Given the description of an element on the screen output the (x, y) to click on. 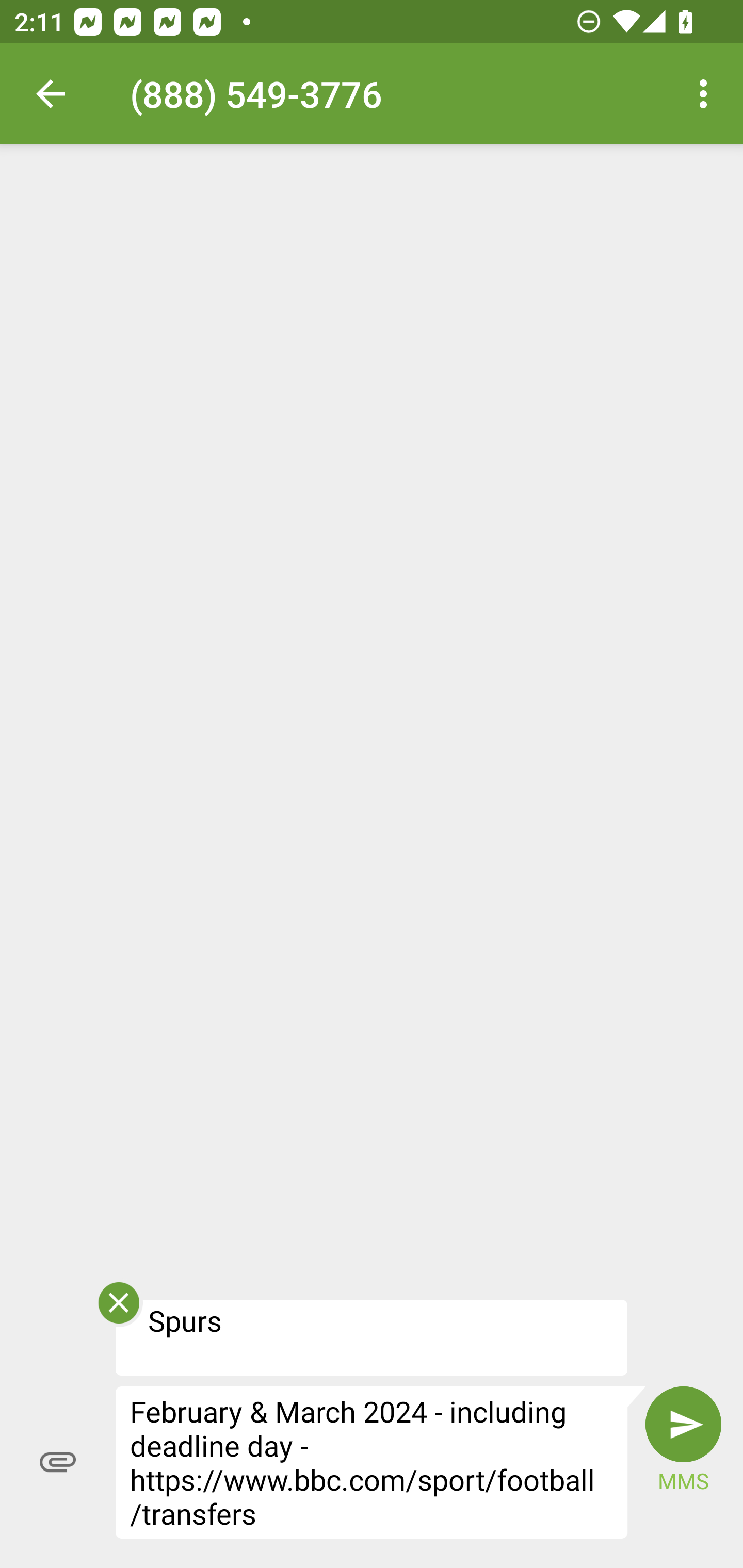
Navigate up (50, 93)
More options (706, 93)
Delete subject (117, 1309)
Spurs
 (371, 1337)
Add an attachment (57, 1462)
